Given the description of an element on the screen output the (x, y) to click on. 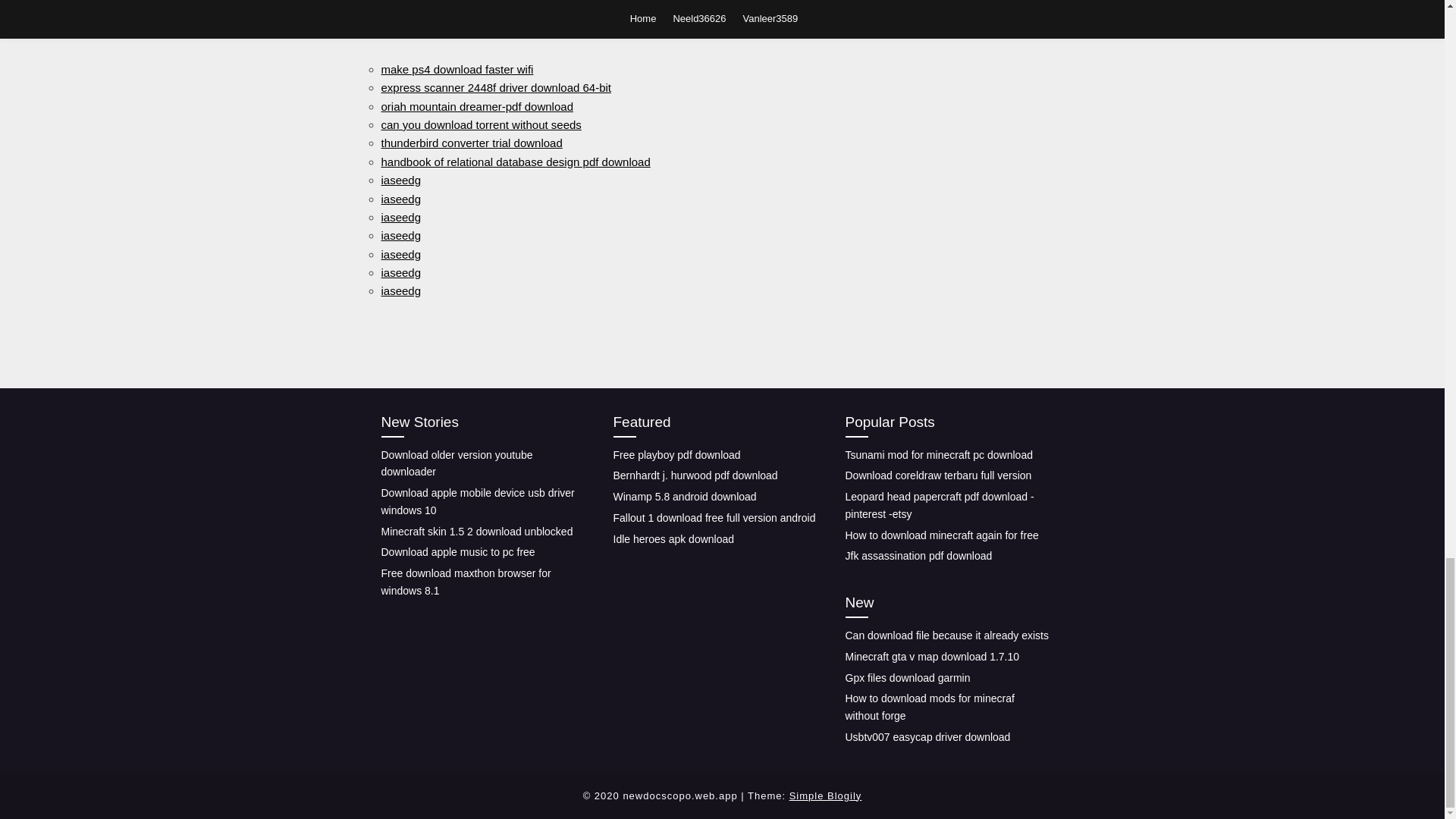
Gpx files download garmin (906, 676)
oriah mountain dreamer-pdf download (476, 106)
Minecraft gta v map download 1.7.10 (931, 656)
iaseedg (400, 235)
express scanner 2448f driver download 64-bit (495, 87)
handbook of relational database design pdf download (514, 161)
Download coreldraw terbaru full version (937, 475)
Fallout 1 download free full version android (713, 517)
iaseedg (400, 197)
Free playboy pdf download (675, 454)
